Given the description of an element on the screen output the (x, y) to click on. 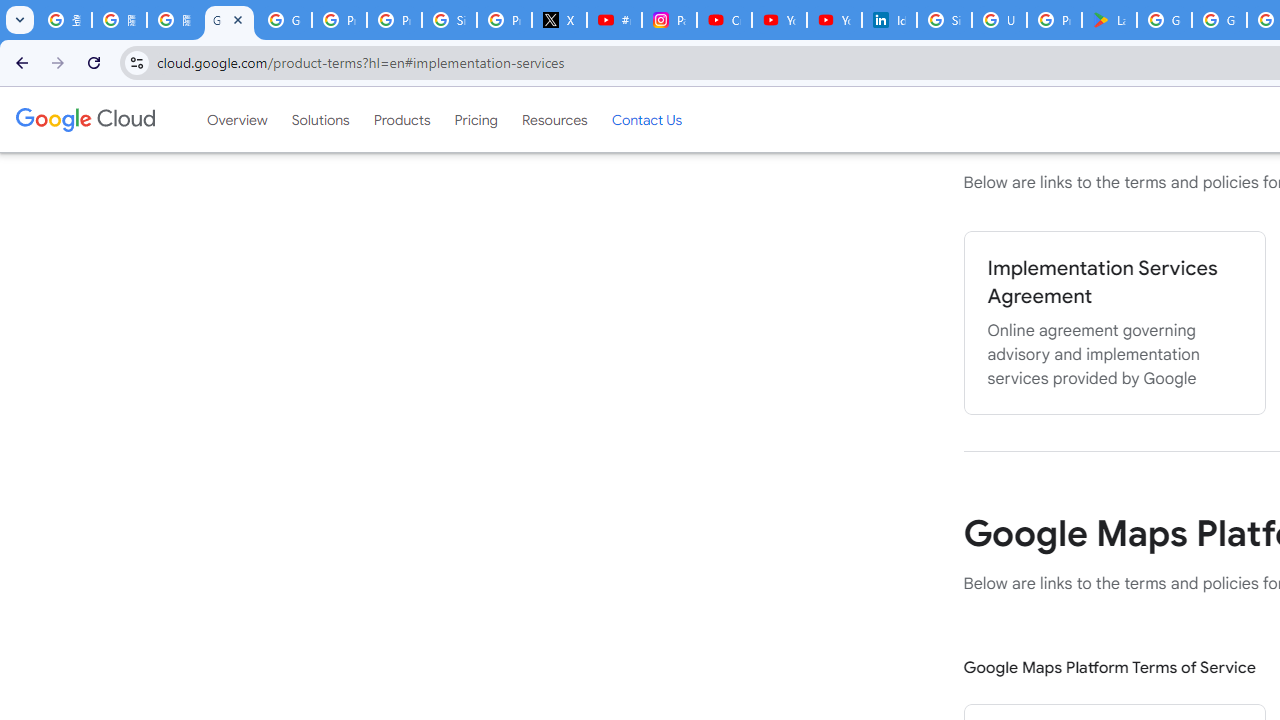
YouTube Culture & Trends - YouTube Top 10, 2021 (833, 20)
Google Cloud Terms Directory | Google Cloud (229, 20)
Sign in - Google Accounts (449, 20)
Solutions (320, 119)
